Given the description of an element on the screen output the (x, y) to click on. 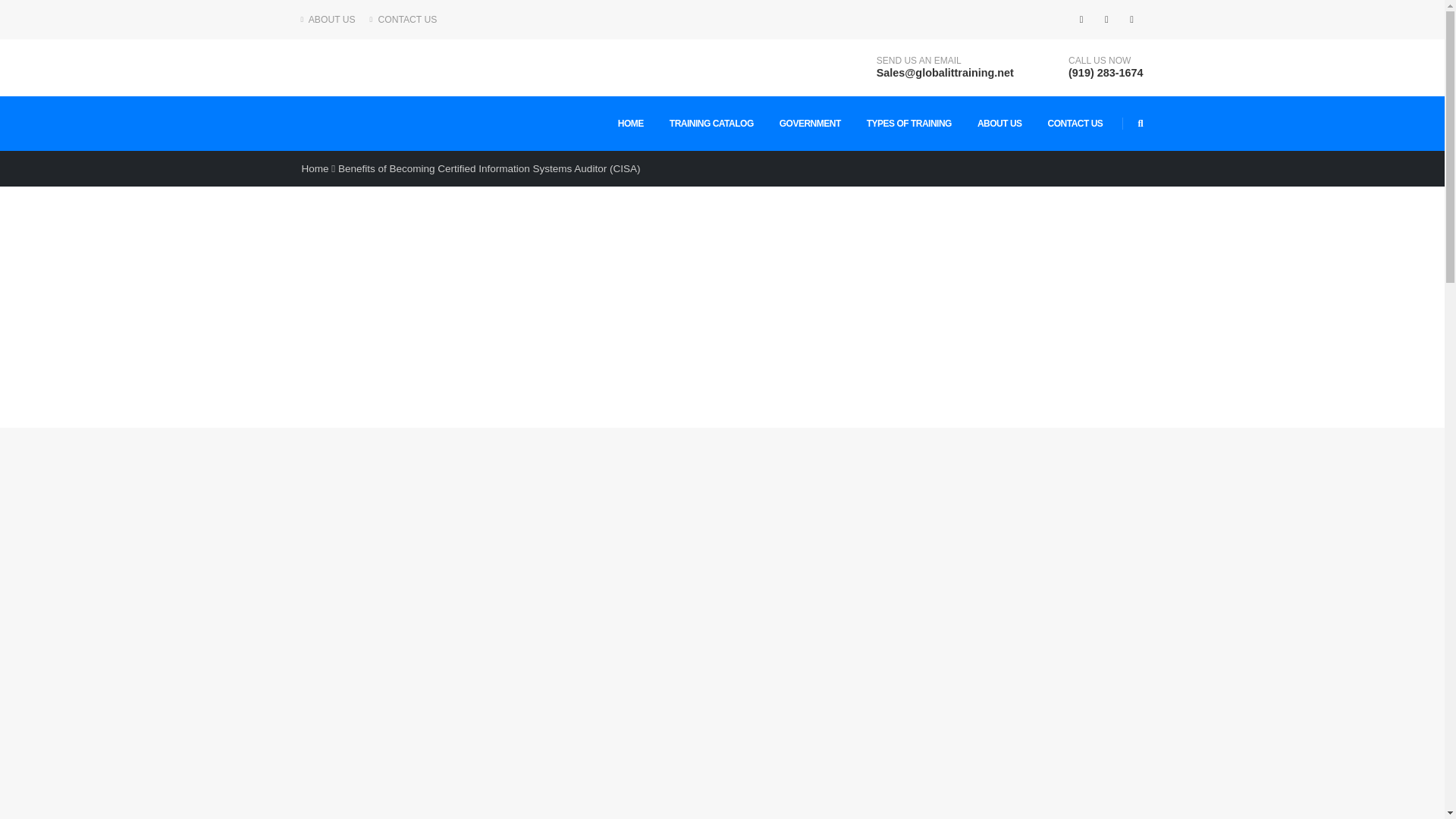
Facebook (1032, 615)
ABOUT US (331, 19)
HOME (630, 123)
CONTACT US (403, 19)
Twitter (1063, 615)
Linkedin (1131, 19)
Facebook (1081, 19)
Twitter (1106, 19)
TRAINING CATALOG (711, 123)
Linkedin (1094, 615)
